Given the description of an element on the screen output the (x, y) to click on. 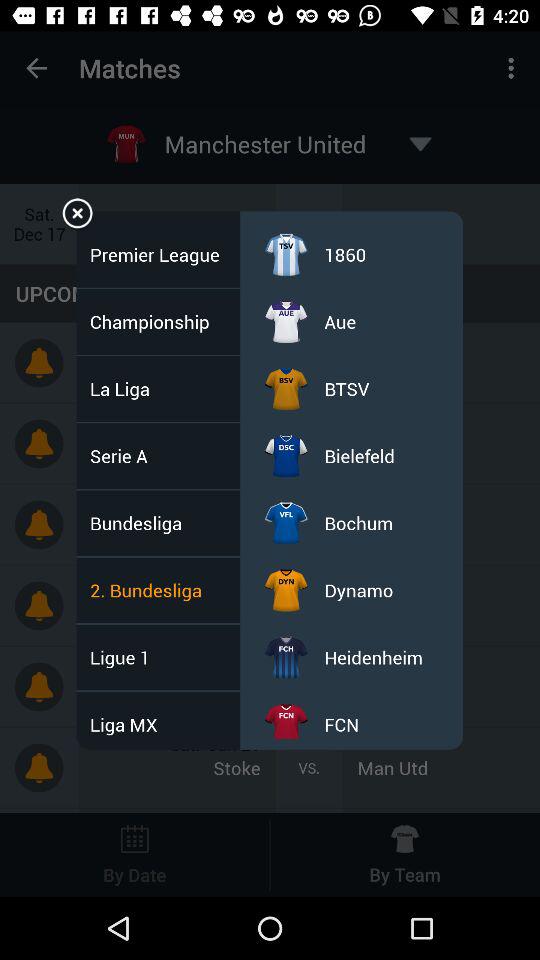
open serie a (124, 455)
